Given the description of an element on the screen output the (x, y) to click on. 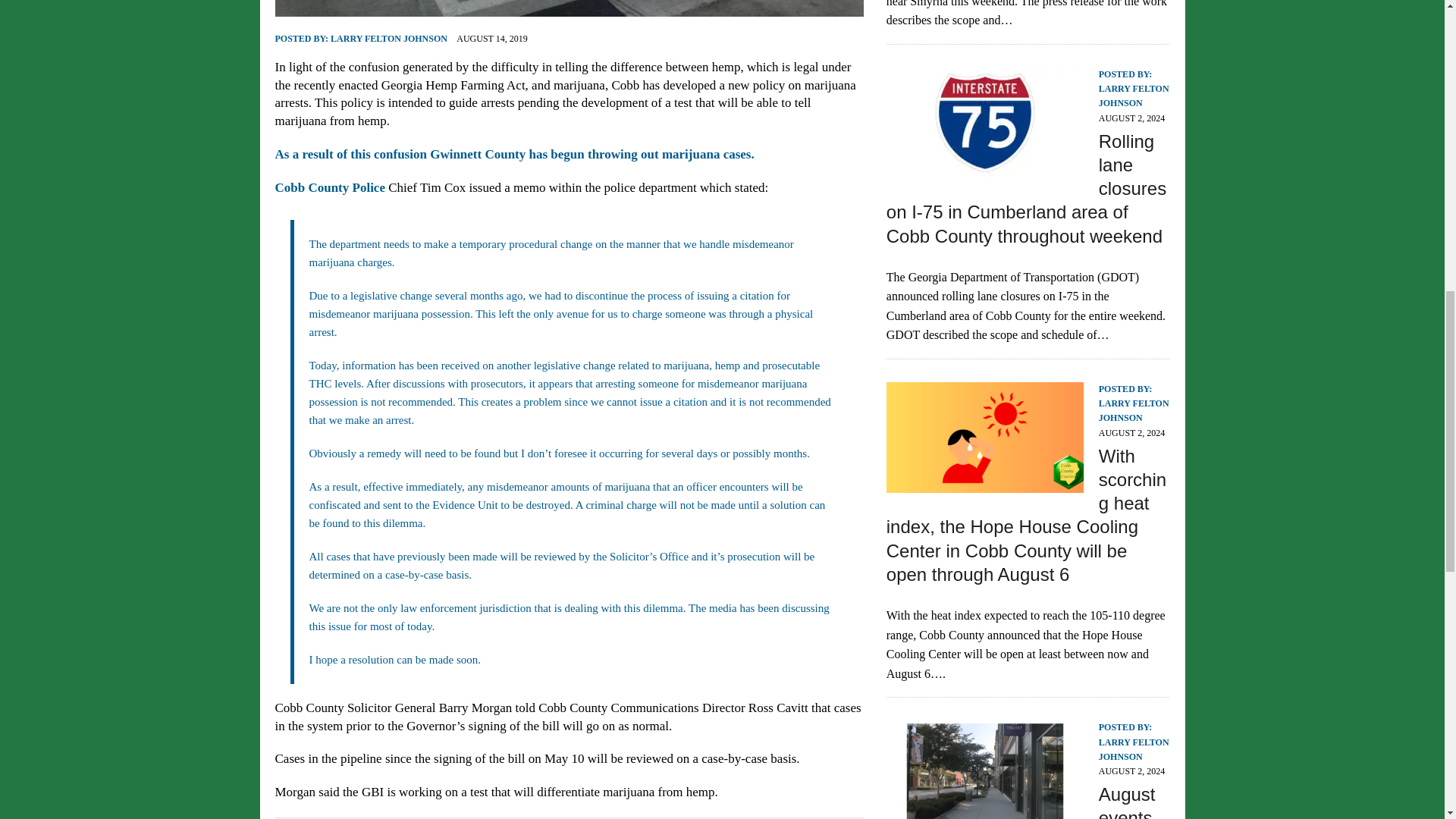
LARRY FELTON JOHNSON (388, 38)
Cobb County Police (329, 187)
